Given the description of an element on the screen output the (x, y) to click on. 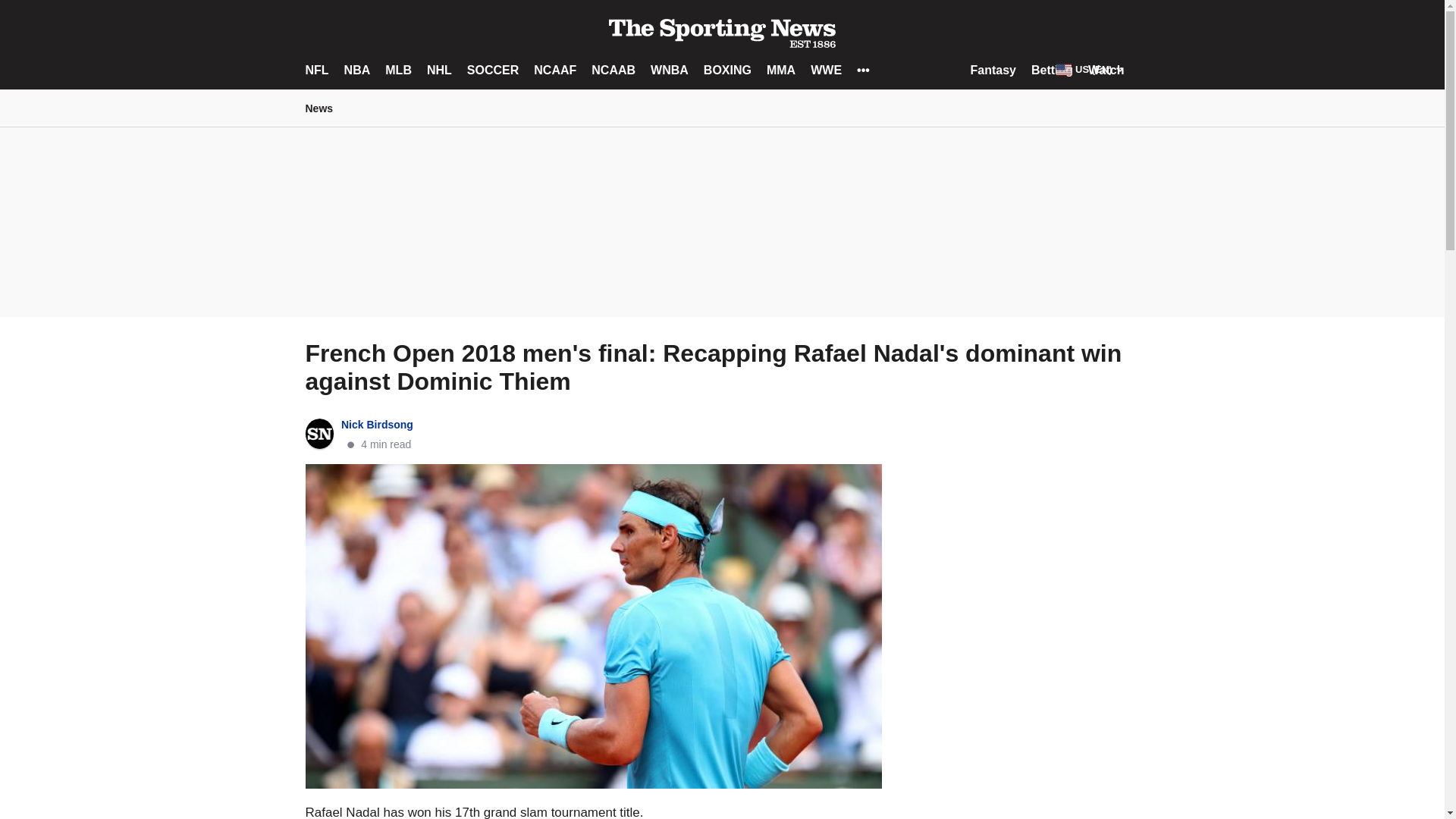
SOCCER (492, 70)
NCAAF (555, 70)
NCAAB (612, 70)
BOXING (727, 70)
WNBA (669, 70)
